Given the description of an element on the screen output the (x, y) to click on. 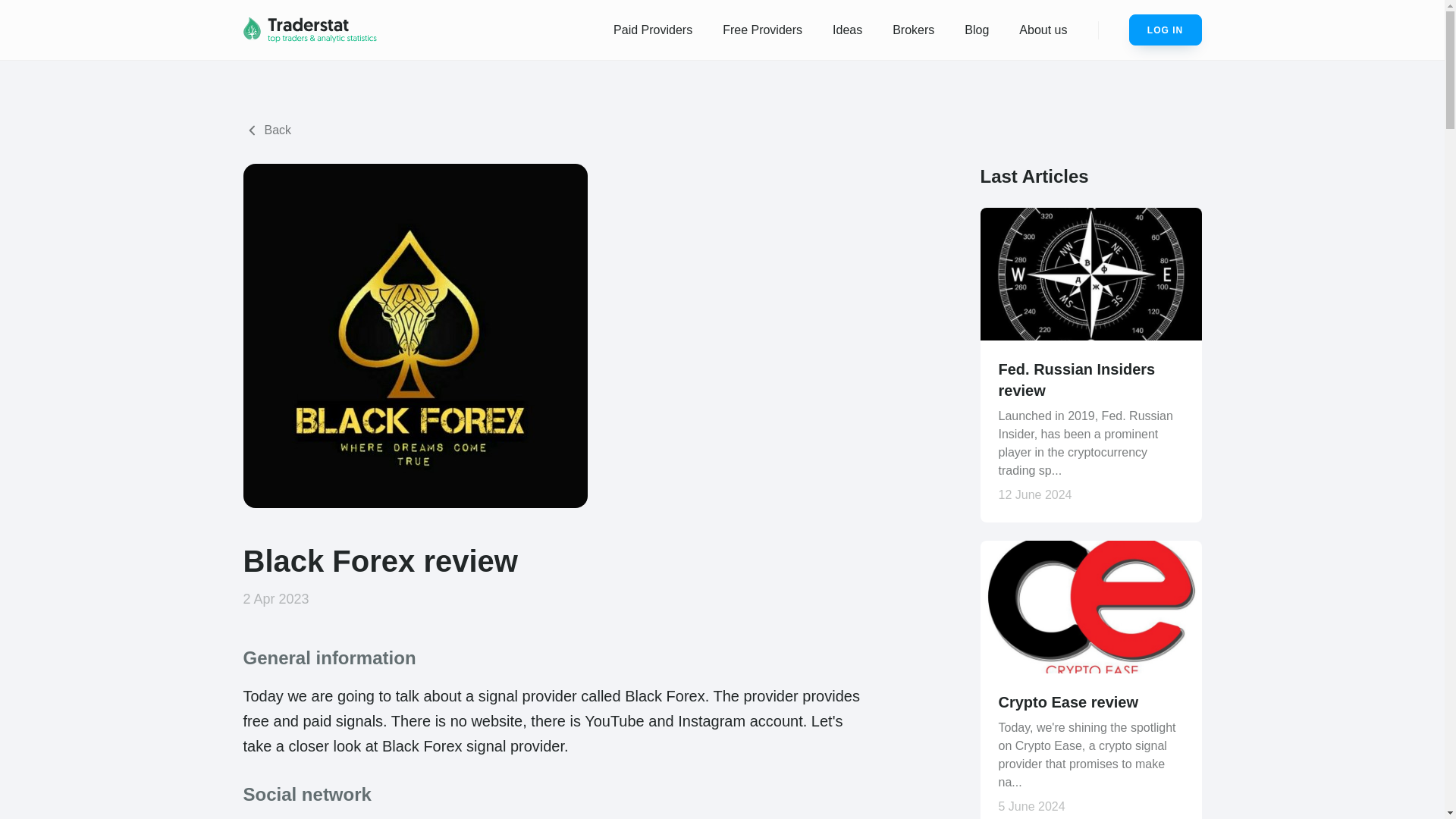
About us (1042, 30)
Brokers (913, 30)
Paid Providers (652, 30)
Free Providers (761, 30)
Blog (976, 30)
Back (267, 130)
LOG IN (1164, 29)
Ideas (846, 30)
